Given the description of an element on the screen output the (x, y) to click on. 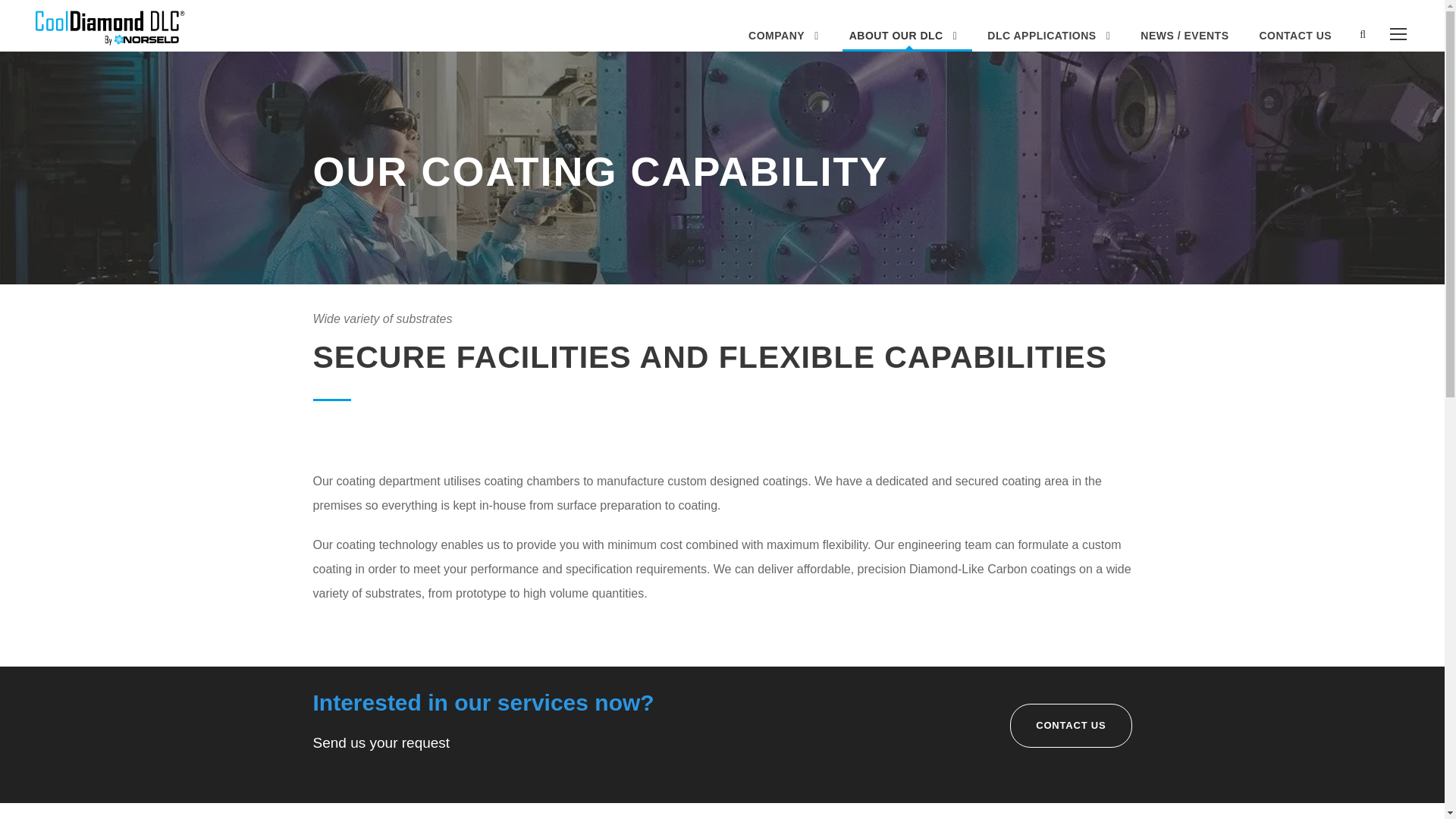
ABOUT OUR DLC (903, 39)
DLC APPLICATIONS (1048, 39)
CoolDiamondDLC-logo (109, 26)
CONTACT US (1070, 725)
CONTACT US (1295, 39)
COMPANY (783, 39)
